Given the description of an element on the screen output the (x, y) to click on. 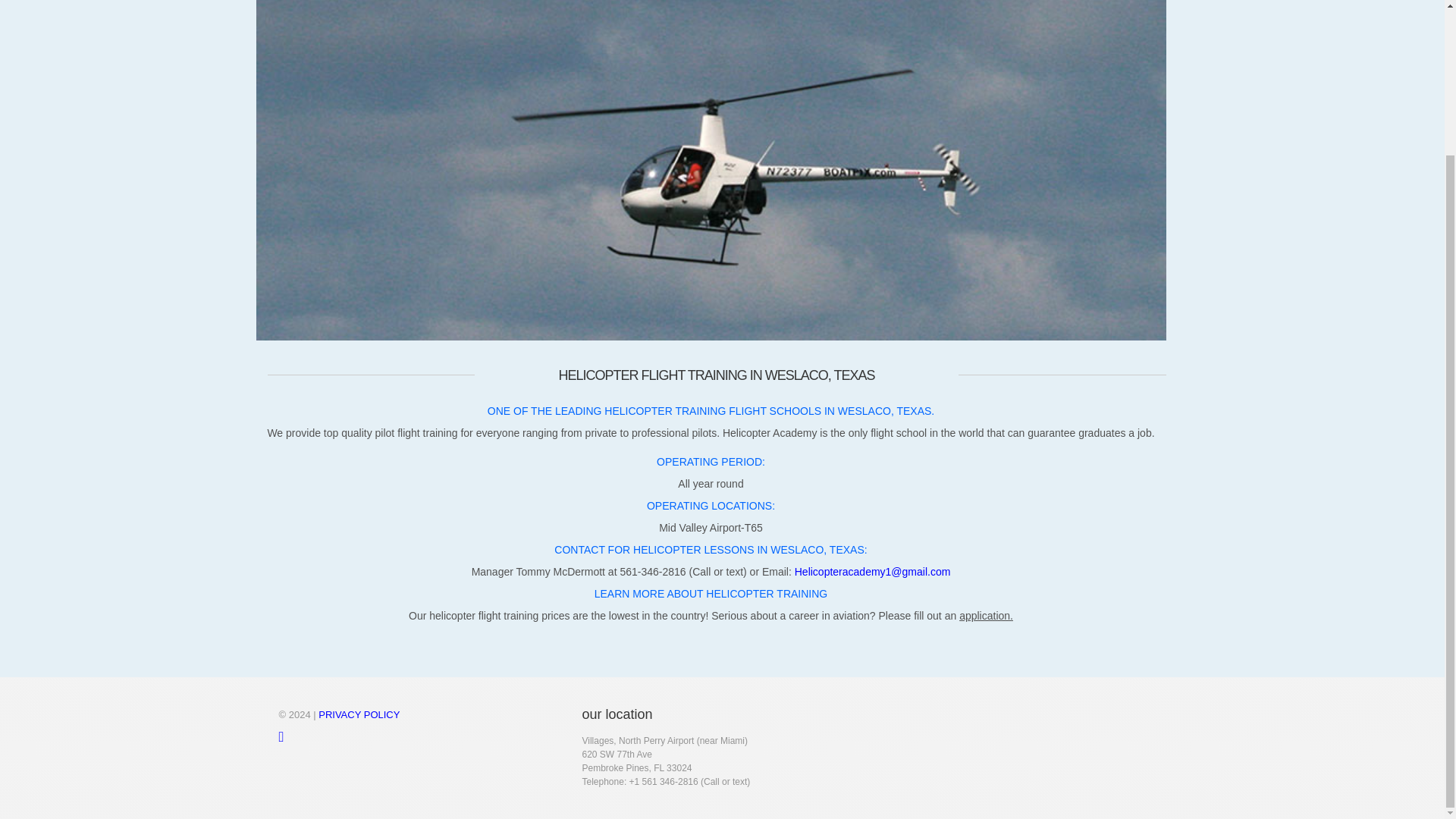
Helicopter flight training in Weslaco, Texas (872, 571)
PRIVACY POLICY (358, 714)
